Given the description of an element on the screen output the (x, y) to click on. 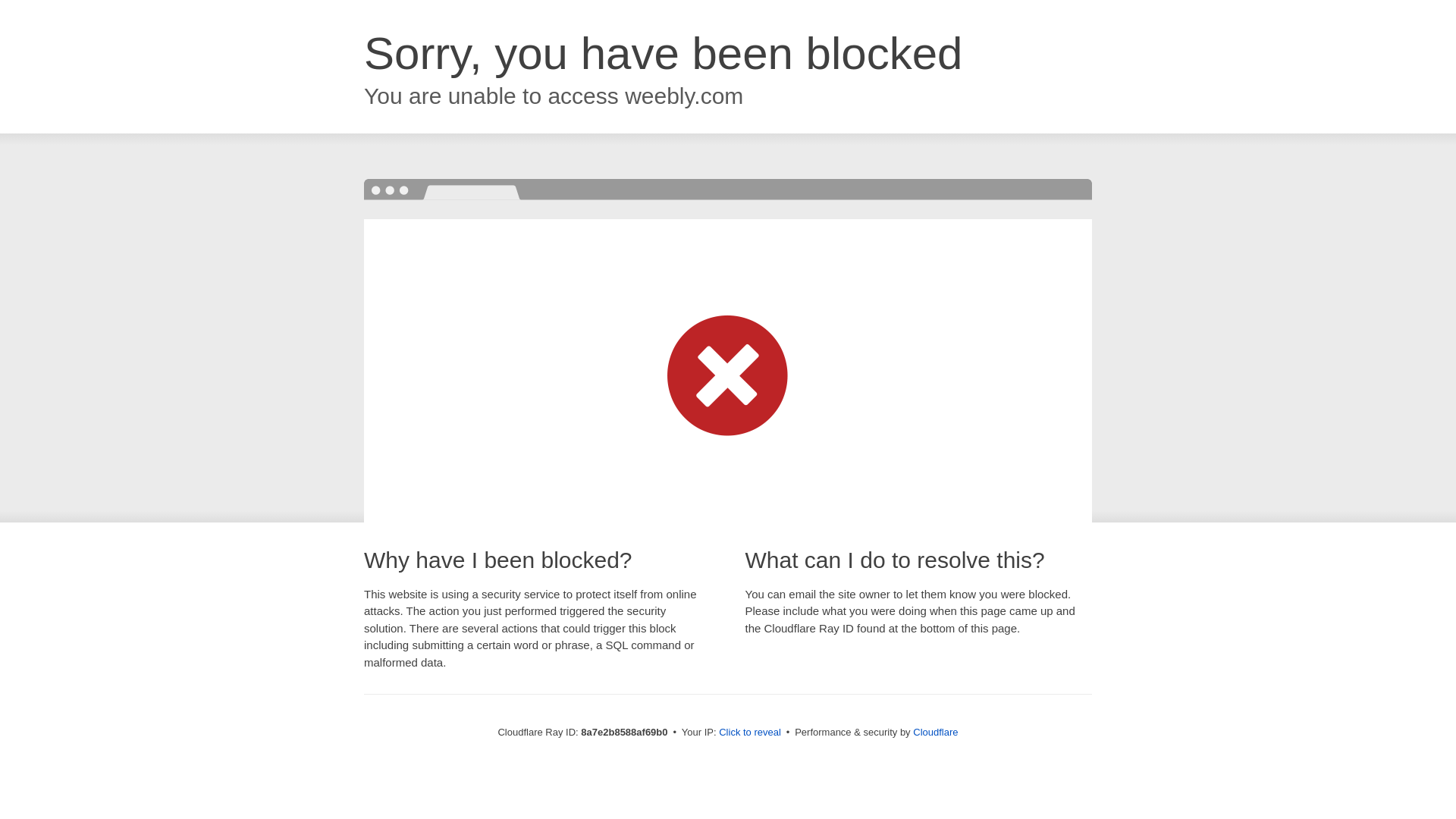
Click to reveal (749, 732)
Cloudflare (935, 731)
